Given the description of an element on the screen output the (x, y) to click on. 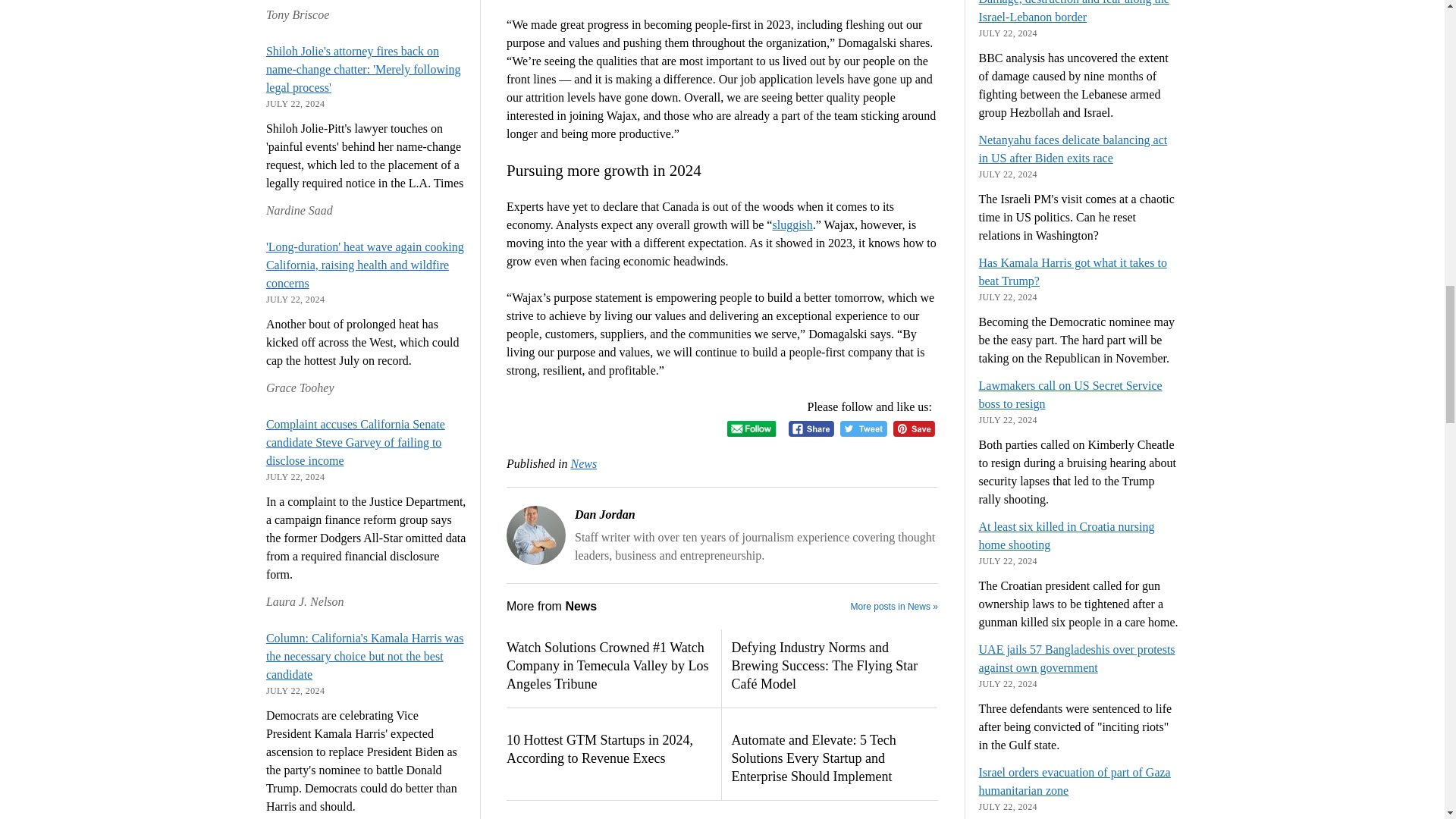
Pin Share (913, 428)
View all posts in News (583, 463)
Tweet (863, 428)
Facebook Share (811, 428)
